Given the description of an element on the screen output the (x, y) to click on. 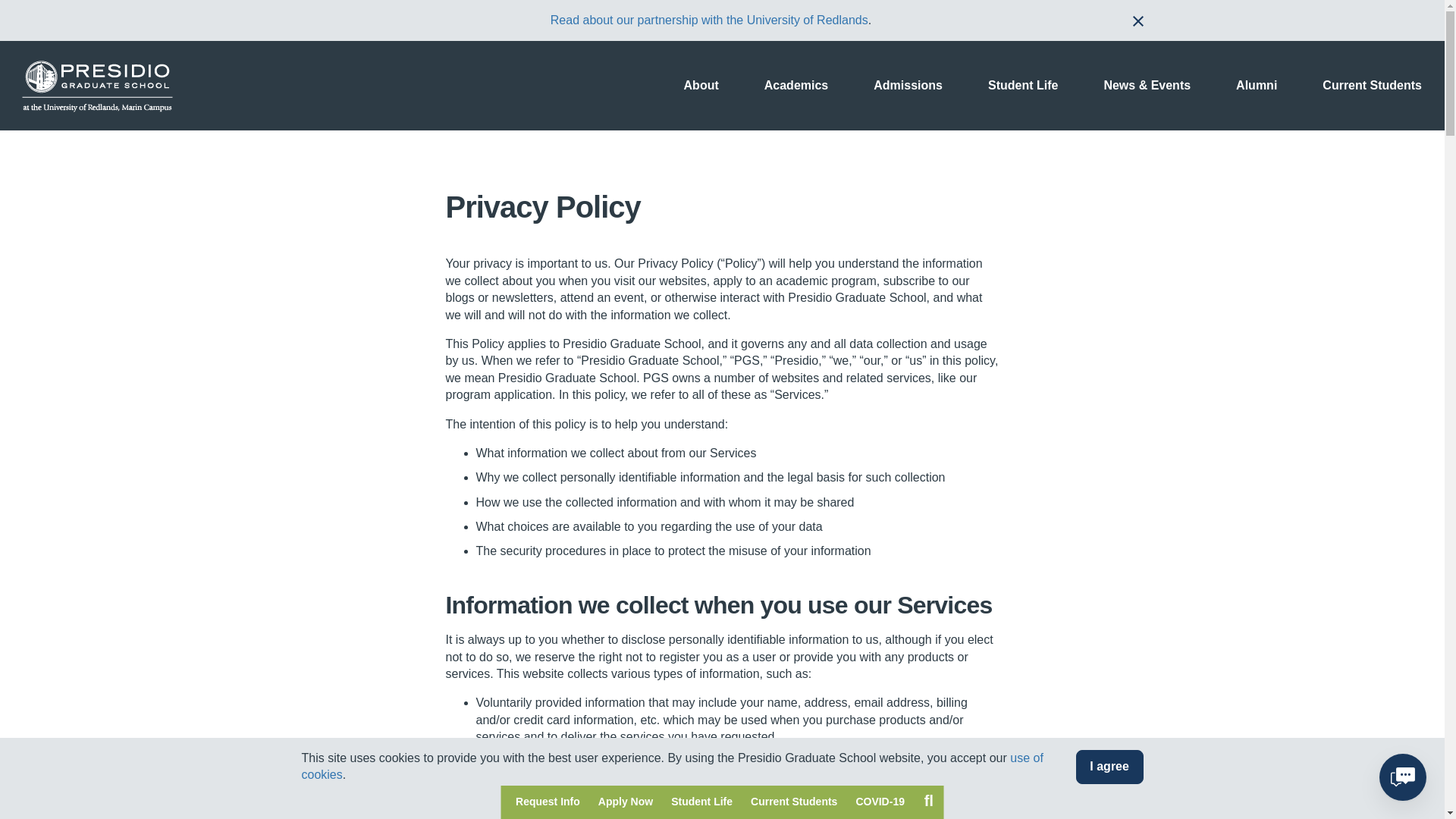
Apply Now (625, 802)
Search (928, 800)
COVID-19 (879, 802)
Request Info (547, 802)
Presidio Graduate School (97, 85)
Current Students (793, 802)
Student Life (701, 802)
